Given the description of an element on the screen output the (x, y) to click on. 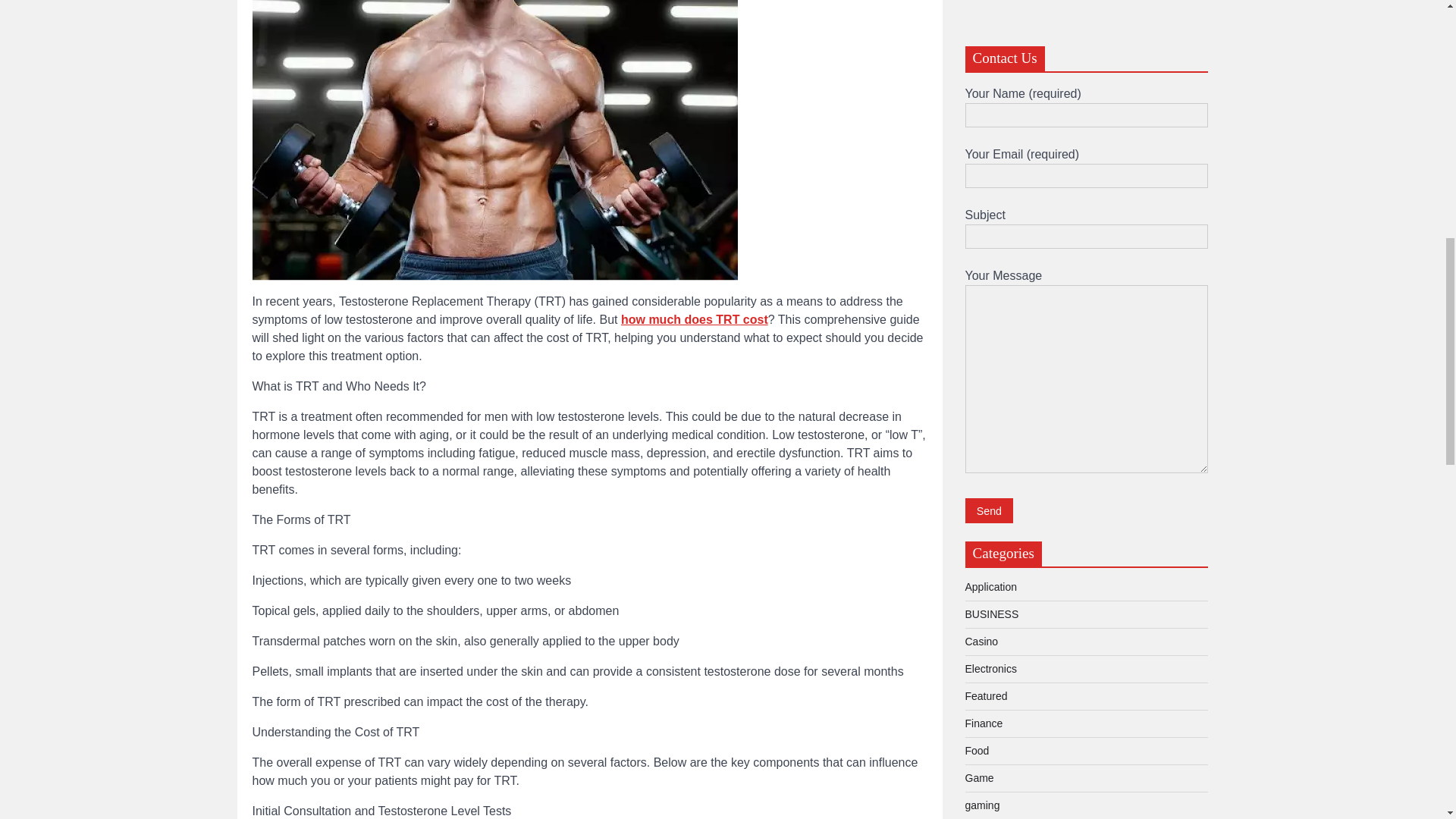
Featured (985, 33)
health (977, 170)
Game (977, 115)
Seo (973, 252)
Online Gaming (999, 224)
Internet (981, 197)
Social media (994, 279)
Finance (983, 61)
gaming (980, 143)
how much does TRT cost (694, 318)
Video (977, 334)
Technology (990, 306)
Electronics (989, 6)
Food (975, 88)
